Given the description of an element on the screen output the (x, y) to click on. 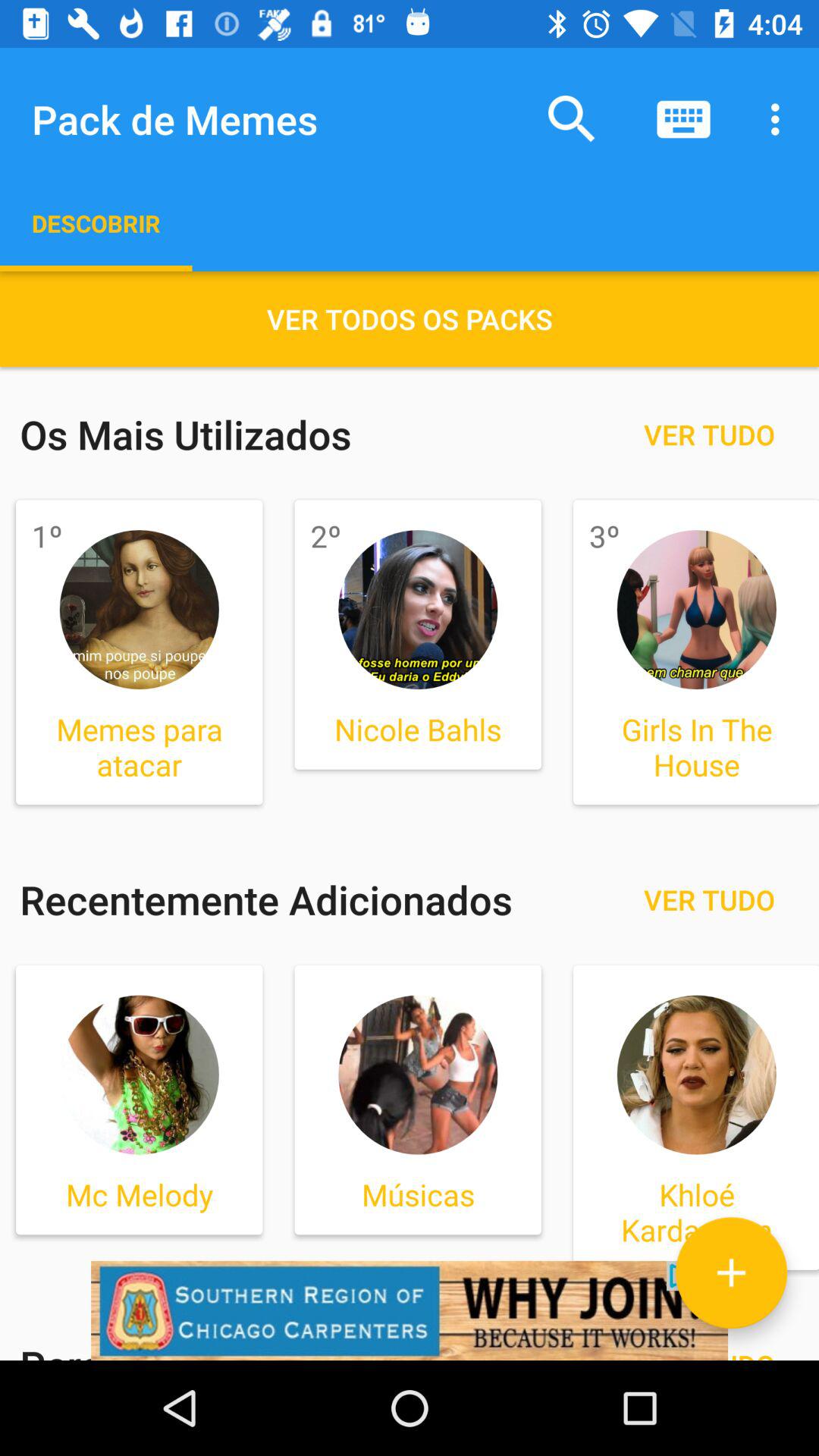
click on advertisement (409, 1310)
